Given the description of an element on the screen output the (x, y) to click on. 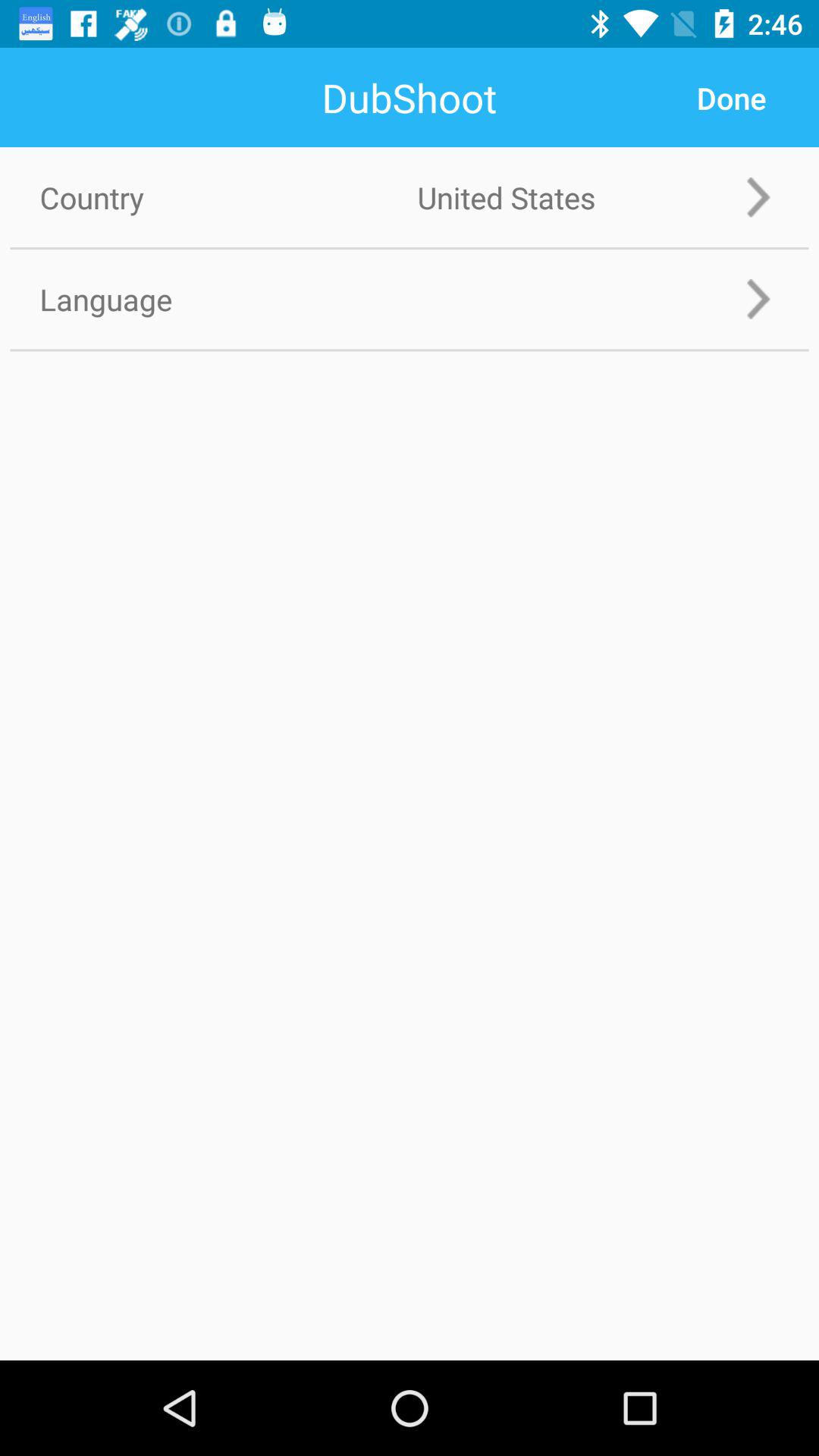
flip to done icon (731, 97)
